Given the description of an element on the screen output the (x, y) to click on. 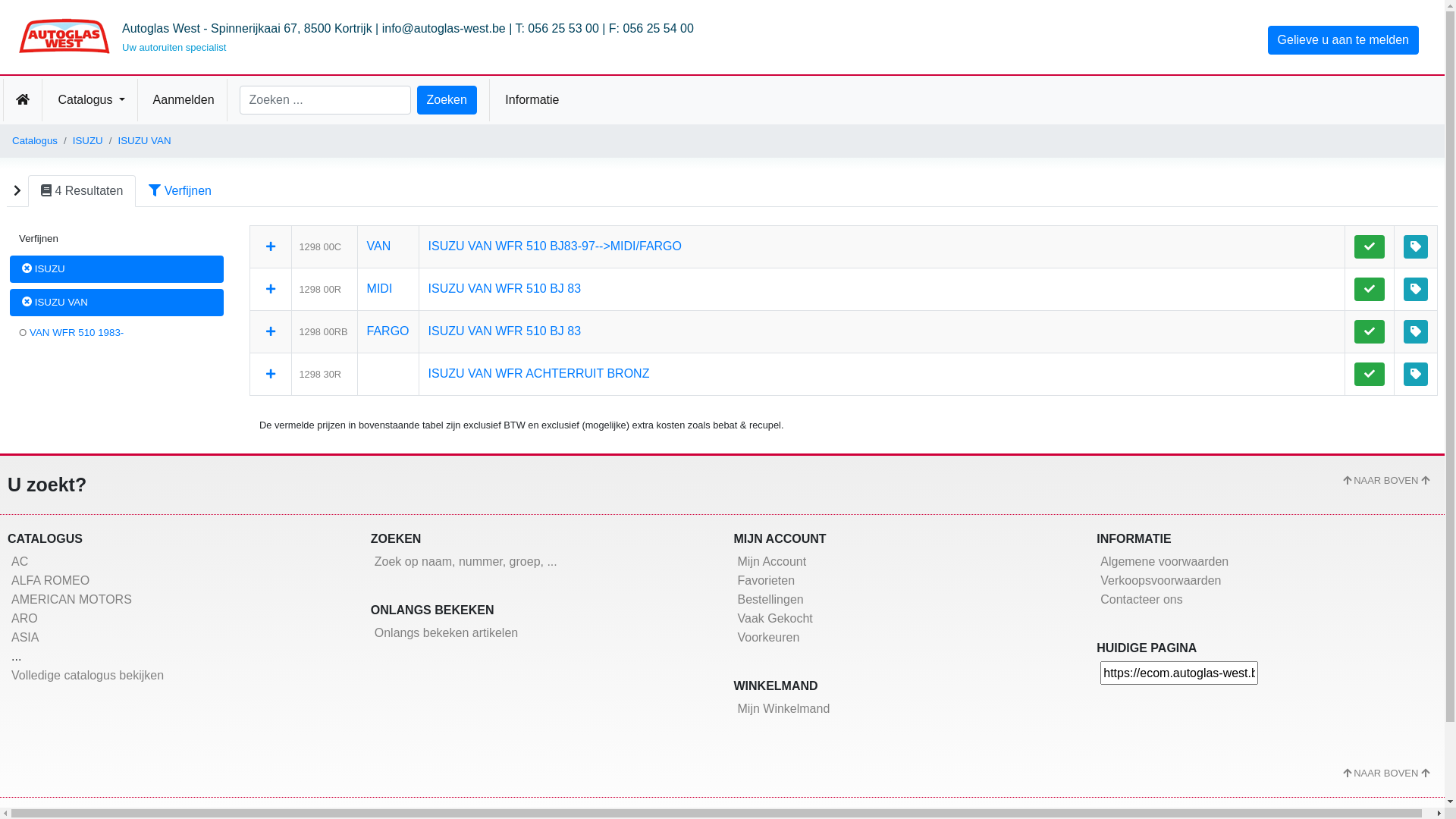
Volledige catalogus bekijken Element type: text (87, 674)
Gelieve u aan te melden Element type: text (1342, 39)
1298 00C Element type: text (319, 245)
1298 00RB Element type: text (322, 330)
Vaak Gekocht Element type: text (774, 617)
Artikelinformatie Element type: hover (1415, 331)
Algemene voorwaarden Element type: text (1164, 561)
VAN Element type: text (379, 245)
AMERICAN MOTORS Element type: text (71, 599)
AC Element type: text (19, 561)
Verfijnen Element type: text (116, 238)
Zoek op naam, nummer, groep, ... Element type: text (465, 561)
Mijn Account Element type: text (771, 561)
4 Resultaten Element type: text (81, 191)
ISUZU VAN Element type: text (116, 302)
Favorieten Element type: text (765, 580)
O VAN WFR 510 1983- Element type: text (116, 332)
ISUZU VAN WFR 510 BJ 83 Element type: text (504, 288)
Bestellingen Element type: text (770, 599)
Artikelinformatie Element type: hover (1415, 289)
Mijn Winkelmand Element type: text (783, 708)
1298 00R Element type: text (319, 288)
ISUZU Element type: text (87, 140)
ASIA Element type: text (24, 636)
1298 30R Element type: text (319, 373)
MIDI Element type: text (379, 288)
ISUZU Element type: text (116, 268)
Artikelinformatie Element type: hover (1415, 373)
Verkoopsvoorwaarden Element type: text (1160, 580)
Voorkeuren Element type: text (768, 636)
ISUZU VAN WFR 510 BJ83-97-->MIDI/FARGO Element type: text (554, 245)
Zoeken Element type: text (446, 99)
FARGO Element type: text (388, 330)
ISUZU VAN WFR 510 BJ 83 Element type: text (504, 330)
ARO Element type: text (24, 617)
Contacteer ons Element type: text (1141, 599)
NAAR BOVEN Element type: text (1386, 480)
ALFA ROMEO Element type: text (50, 580)
Artikelinformatie Element type: hover (1415, 246)
NAAR BOVEN Element type: text (1386, 772)
 Aanmelden Element type: text (182, 99)
Catalogus Element type: text (34, 140)
ISUZU VAN WFR ACHTERRUIT BRONZ Element type: text (538, 373)
 Catalogus  Element type: text (89, 99)
Verfijnen Element type: text (179, 191)
Onlangs bekeken artikelen Element type: text (445, 632)
ISUZU VAN Element type: text (143, 140)
 Informatie Element type: text (530, 99)
